Given the description of an element on the screen output the (x, y) to click on. 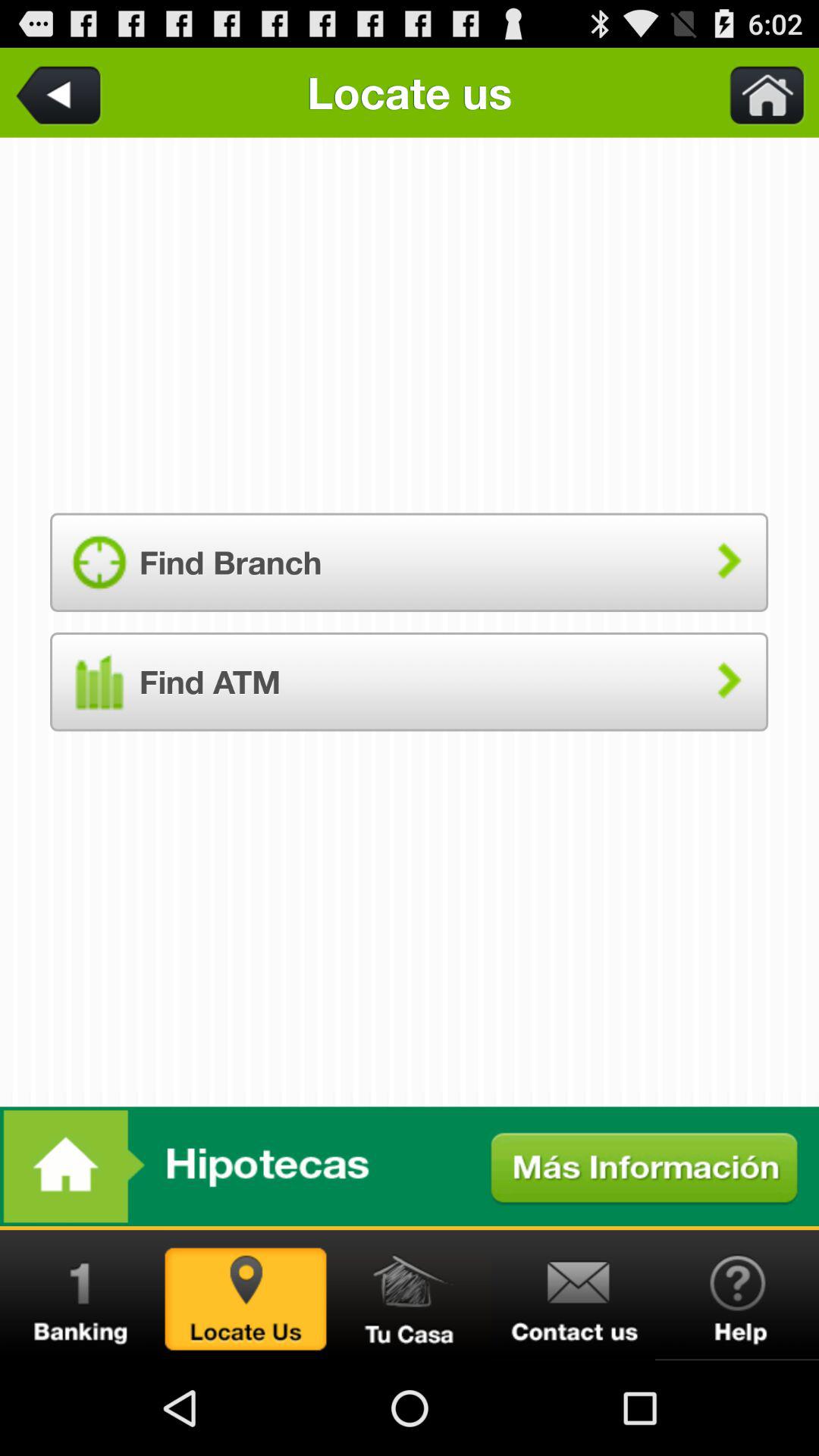
go home (409, 1295)
